Given the description of an element on the screen output the (x, y) to click on. 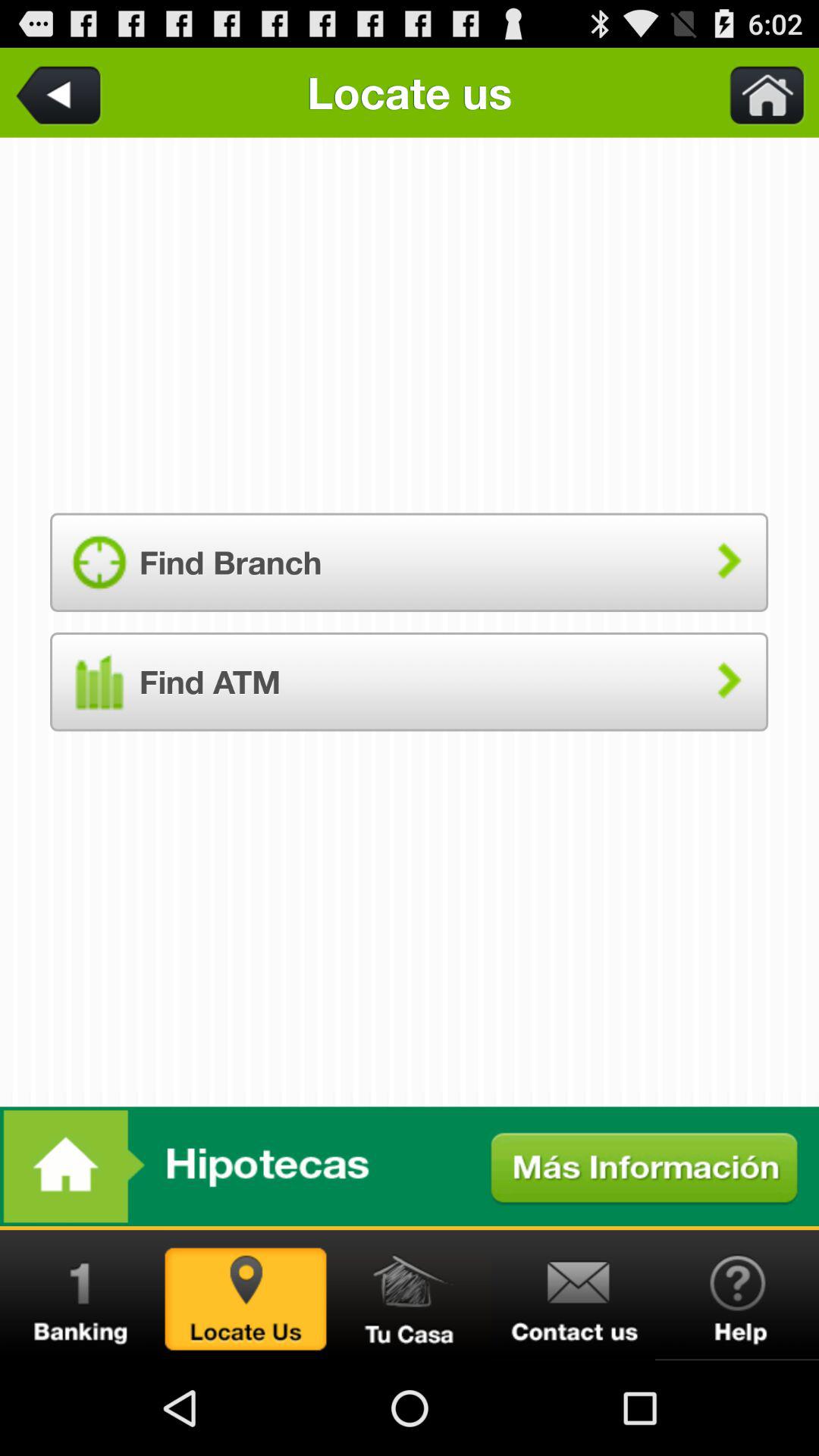
go home (409, 1295)
